Given the description of an element on the screen output the (x, y) to click on. 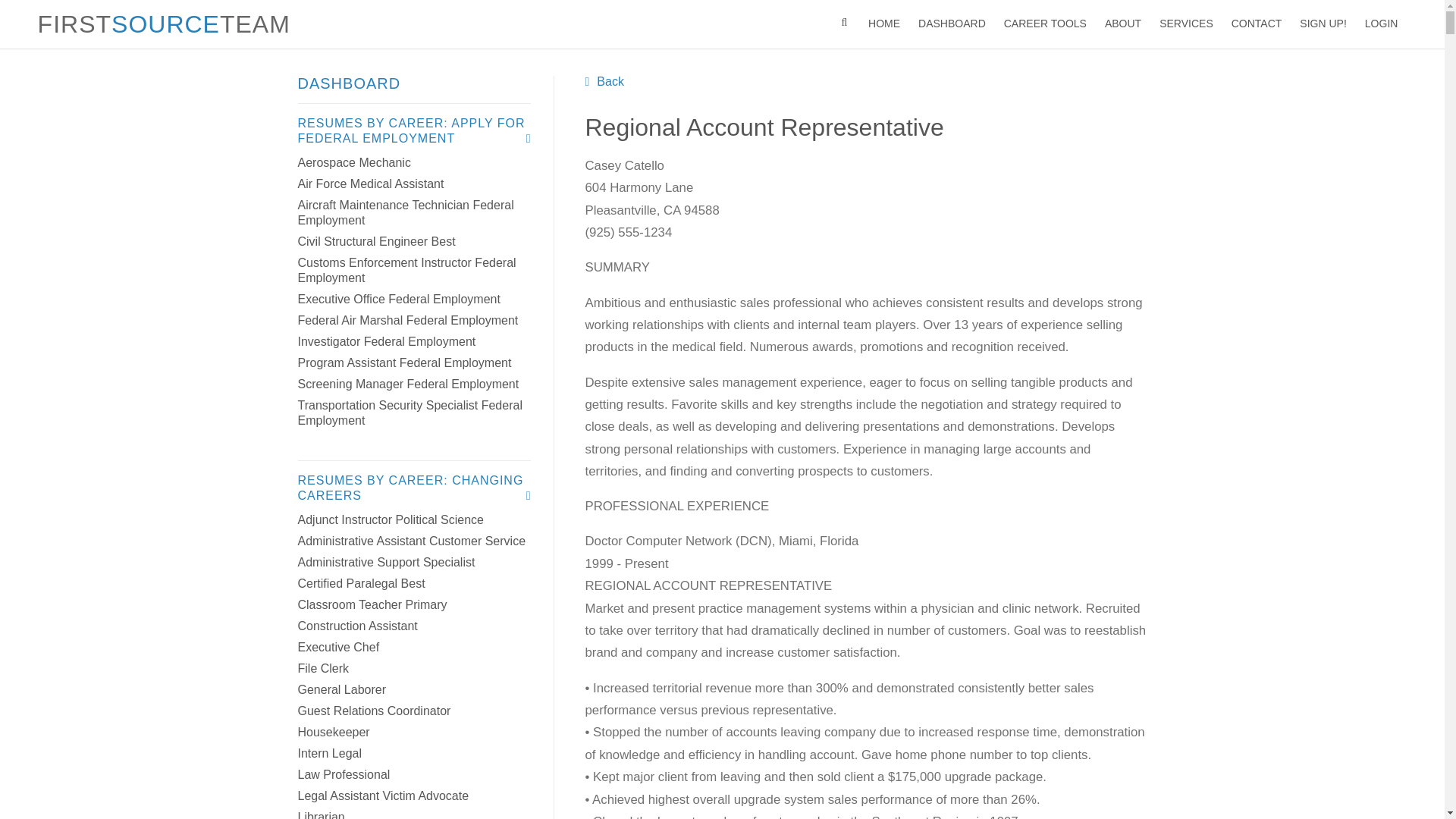
DASHBOARD (951, 24)
CAREER TOOLS (1045, 24)
FIRSTSOURCETEAM (163, 23)
SIGN UP! (1322, 24)
Air Force Medical Assistant (370, 183)
Customs Enforcement Instructor Federal Employment (406, 270)
LOGIN (1381, 24)
RESUMES BY CAREER: APPLY FOR FEDERAL EMPLOYMENT (414, 131)
ABOUT (1123, 24)
Aerospace Mechanic (353, 162)
CONTACT (1257, 24)
Aircraft Maintenance Technician Federal Employment (405, 212)
HOME (883, 24)
Executive Office Federal Employment (398, 298)
Civil Structural Engineer Best (375, 241)
